Given the description of an element on the screen output the (x, y) to click on. 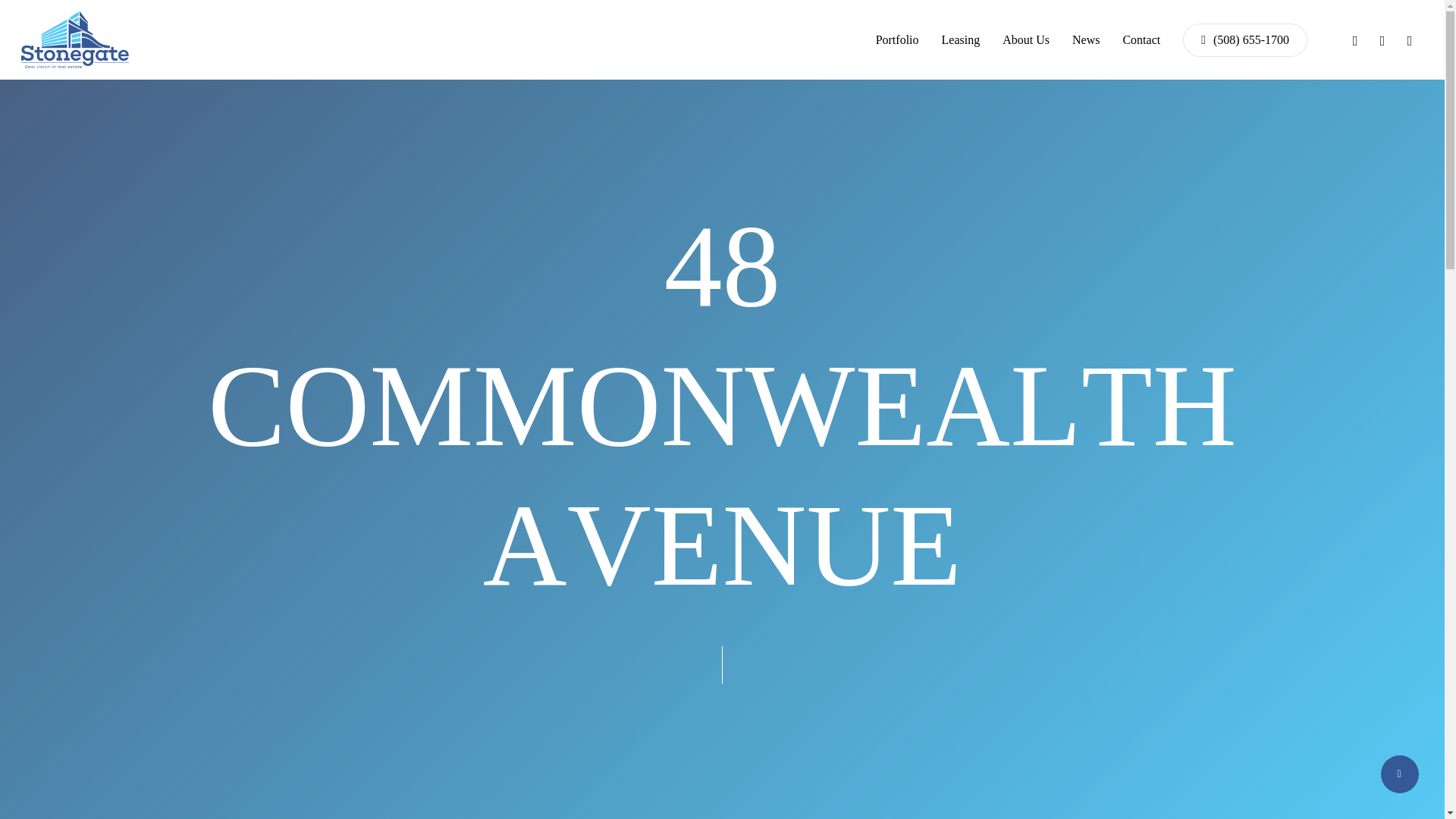
instagram (1409, 39)
About Us (1026, 39)
Contact (1141, 39)
linkedin (1382, 39)
facebook (1354, 39)
Portfolio (897, 39)
News (1085, 39)
Leasing (960, 39)
